Given the description of an element on the screen output the (x, y) to click on. 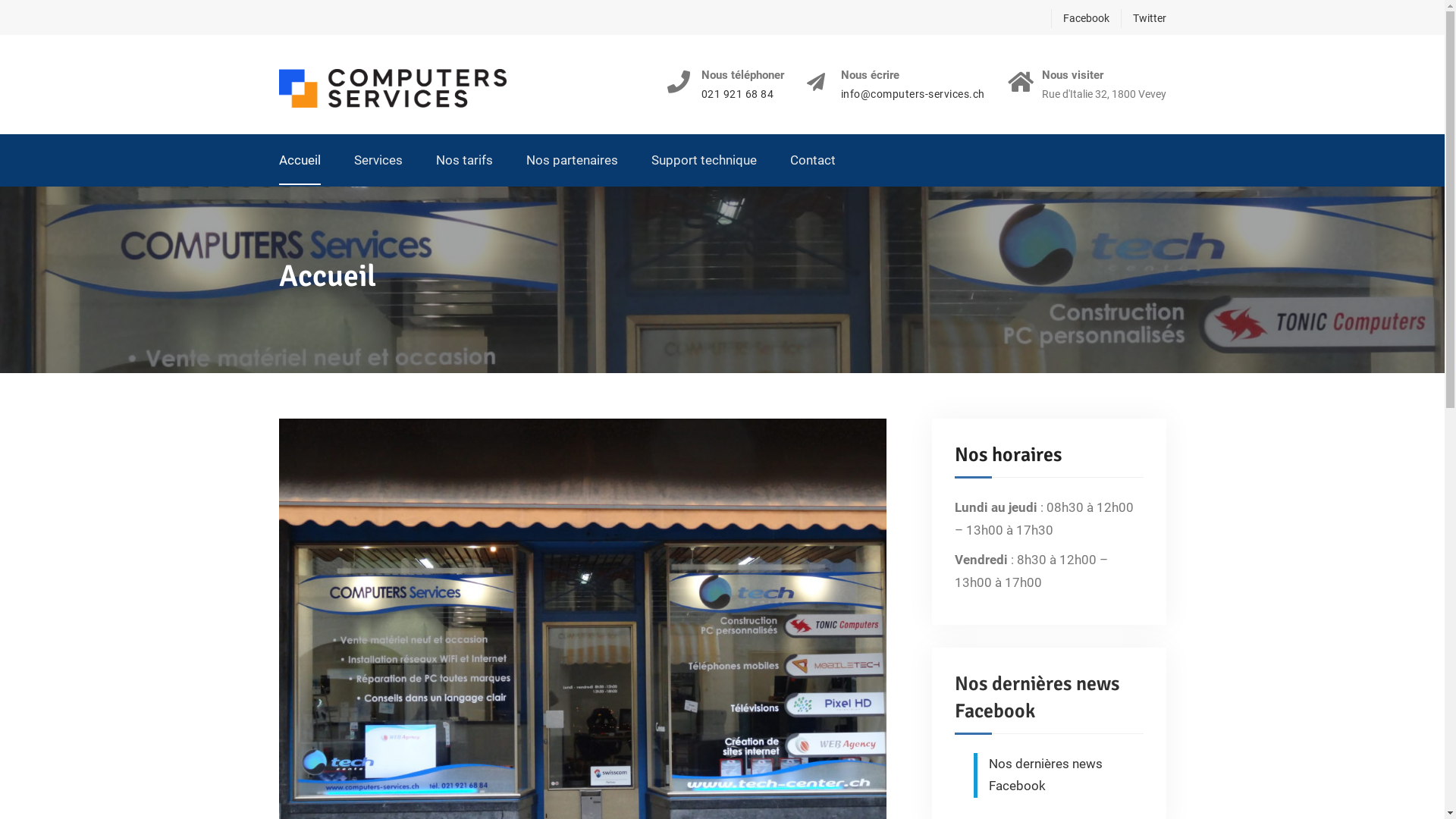
Support technique Element type: text (703, 160)
Nos partenaires Element type: text (572, 160)
Accueil Element type: text (299, 160)
Nos tarifs Element type: text (463, 160)
021 921 68 84 Element type: text (741, 93)
Contact Element type: text (812, 160)
Twitter Element type: text (1143, 18)
Services Element type: text (377, 160)
Facebook Element type: text (1080, 18)
info@computers-services.ch Element type: text (912, 93)
